Given the description of an element on the screen output the (x, y) to click on. 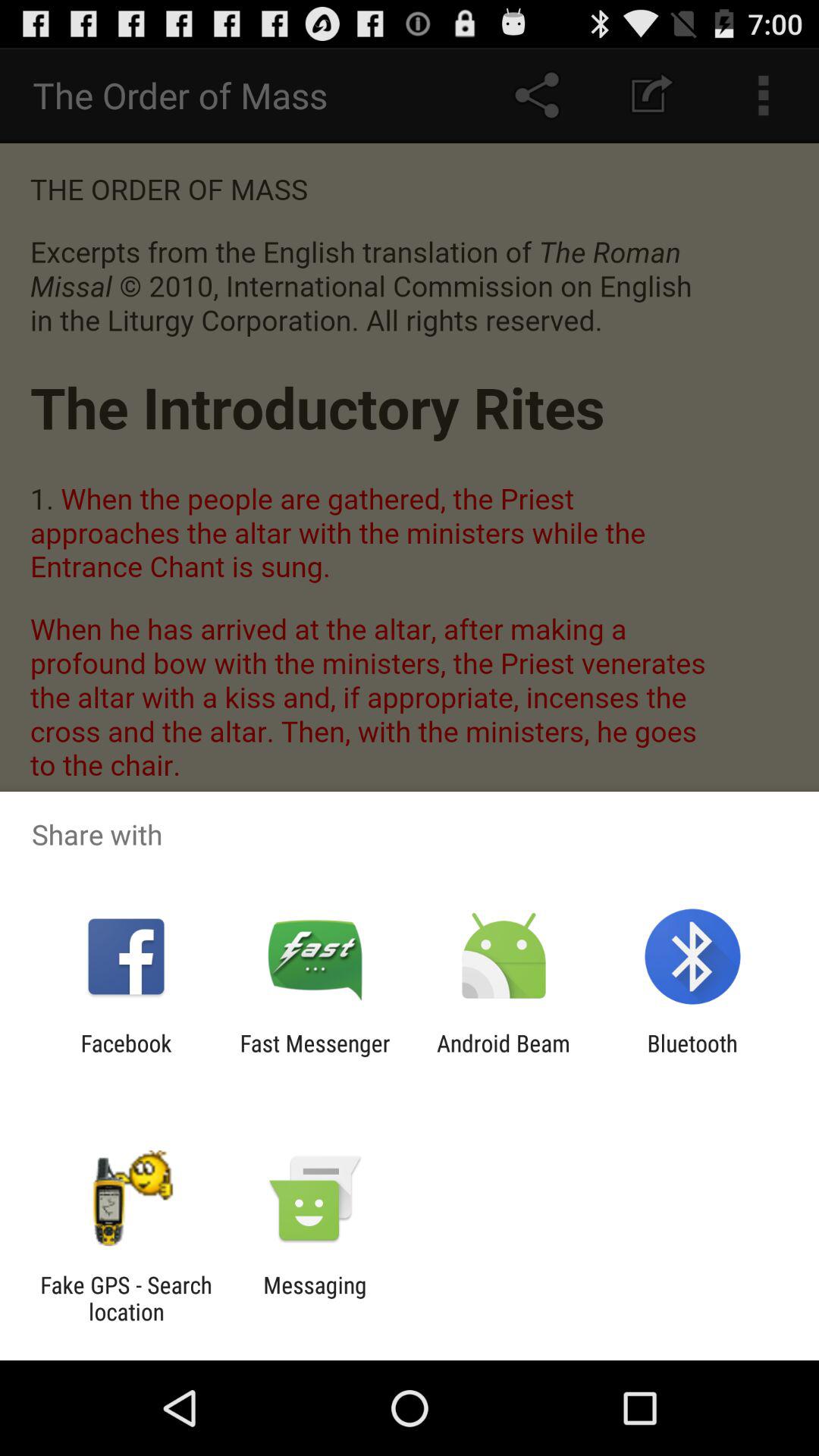
turn off app next to android beam icon (315, 1056)
